Given the description of an element on the screen output the (x, y) to click on. 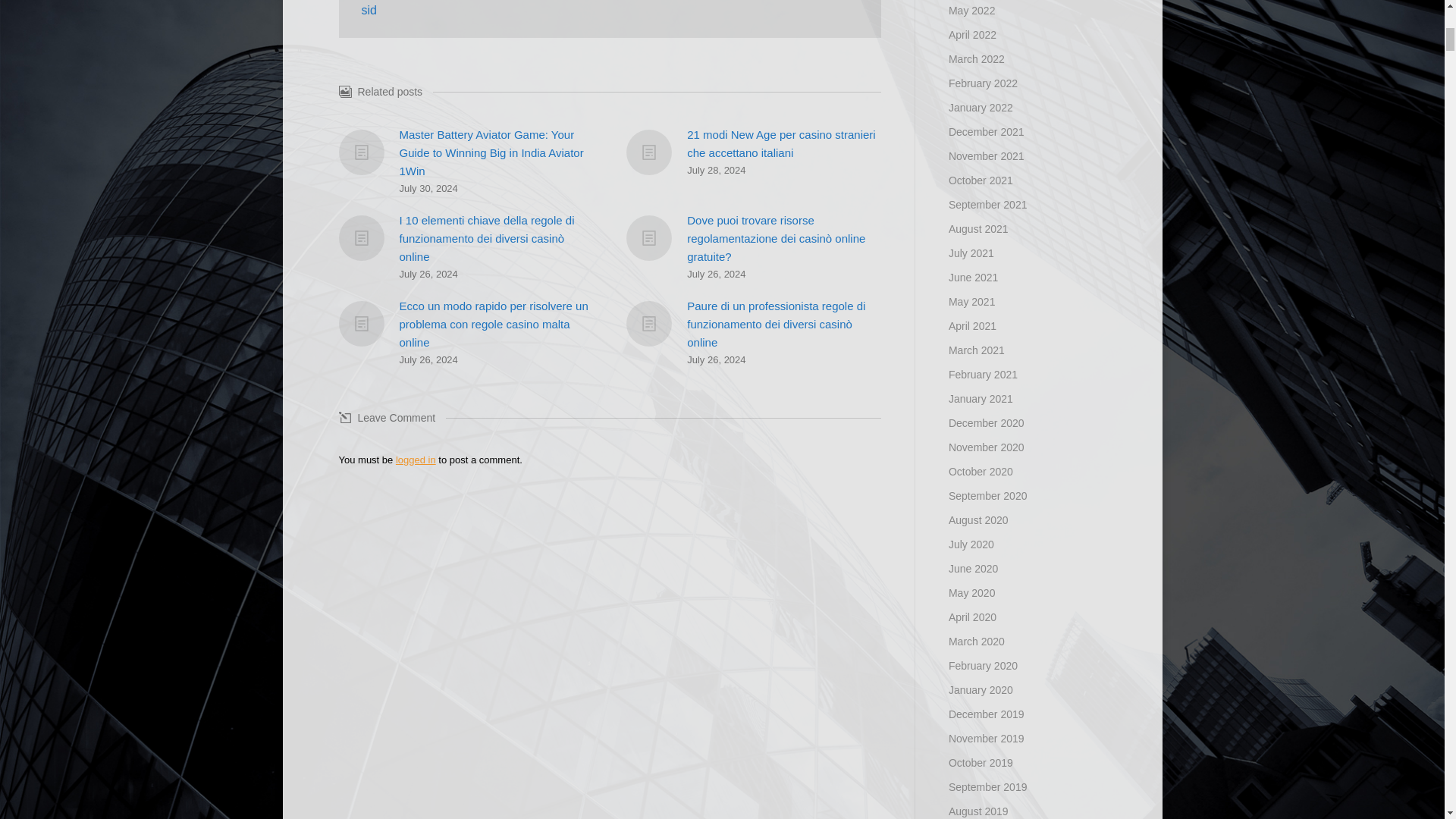
21 modi New Age per casino stranieri che accettano italiani (783, 144)
